Given the description of an element on the screen output the (x, y) to click on. 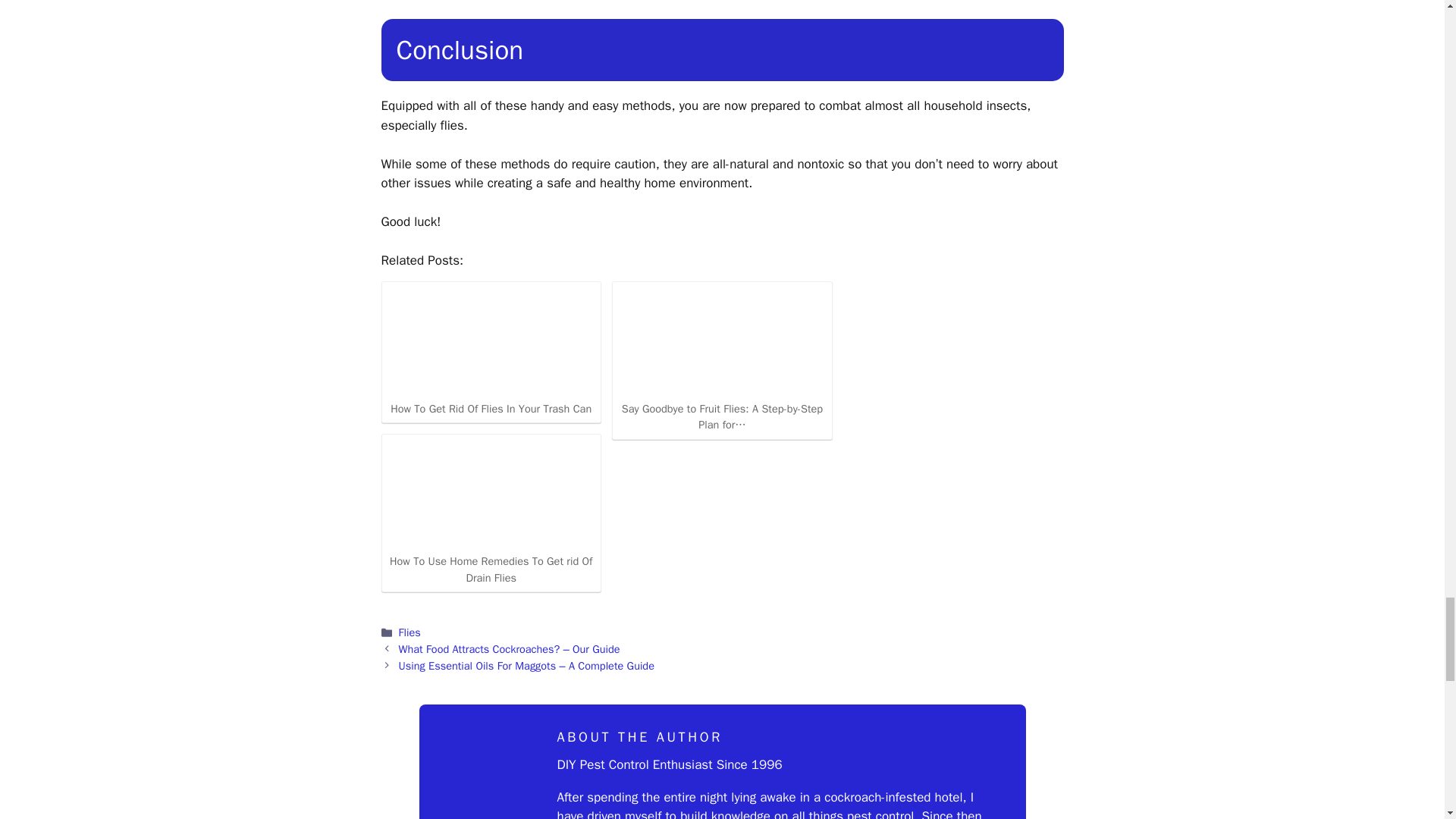
How To Use Home Remedies To Get rid Of Drain Flies (490, 493)
How To Get Rid Of Flies In Your Trash Can (490, 341)
